Given the description of an element on the screen output the (x, y) to click on. 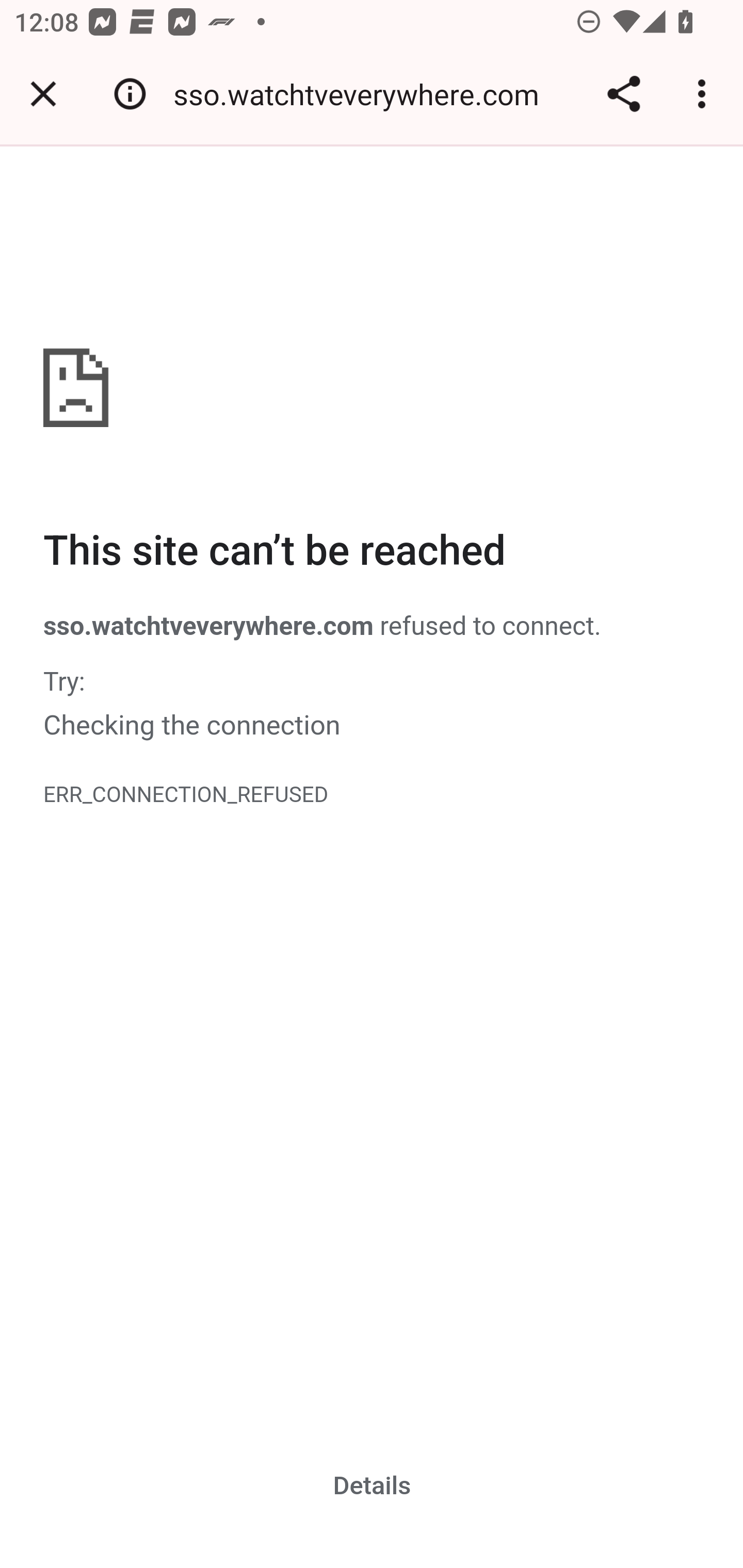
Close tab (43, 93)
Share (623, 93)
Customize and control Google Chrome (705, 93)
Your connection to this site is not secure (129, 93)
sso.watchtveverywhere.com (363, 93)
Details (372, 1485)
